Given the description of an element on the screen output the (x, y) to click on. 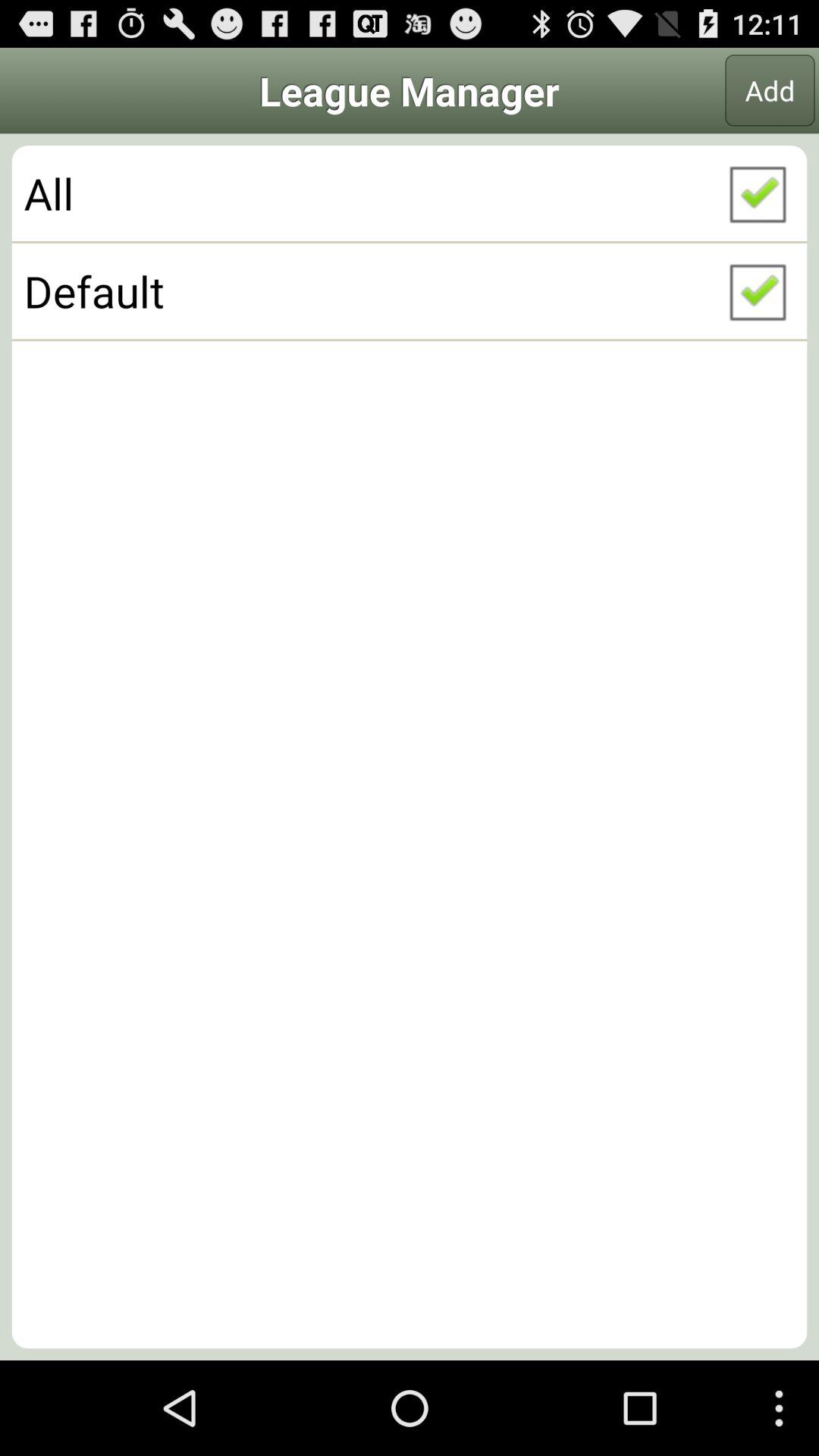
turn off the button below add icon (409, 193)
